Given the description of an element on the screen output the (x, y) to click on. 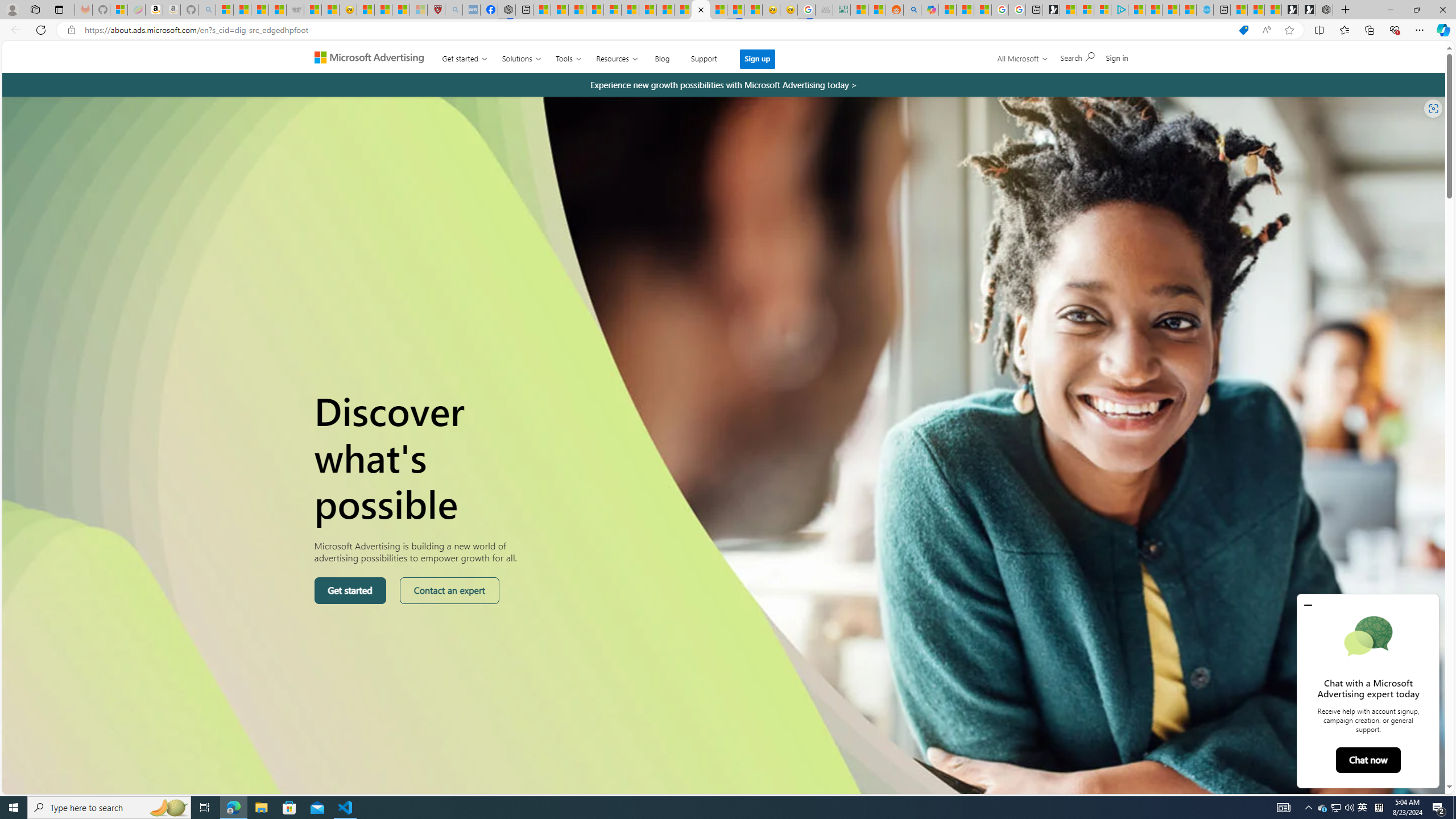
Get the Copilot app  (1131, 62)
Sign in (1116, 57)
Recipes - MSN (366, 9)
Science - MSN (400, 9)
Support (703, 55)
